Given the description of an element on the screen output the (x, y) to click on. 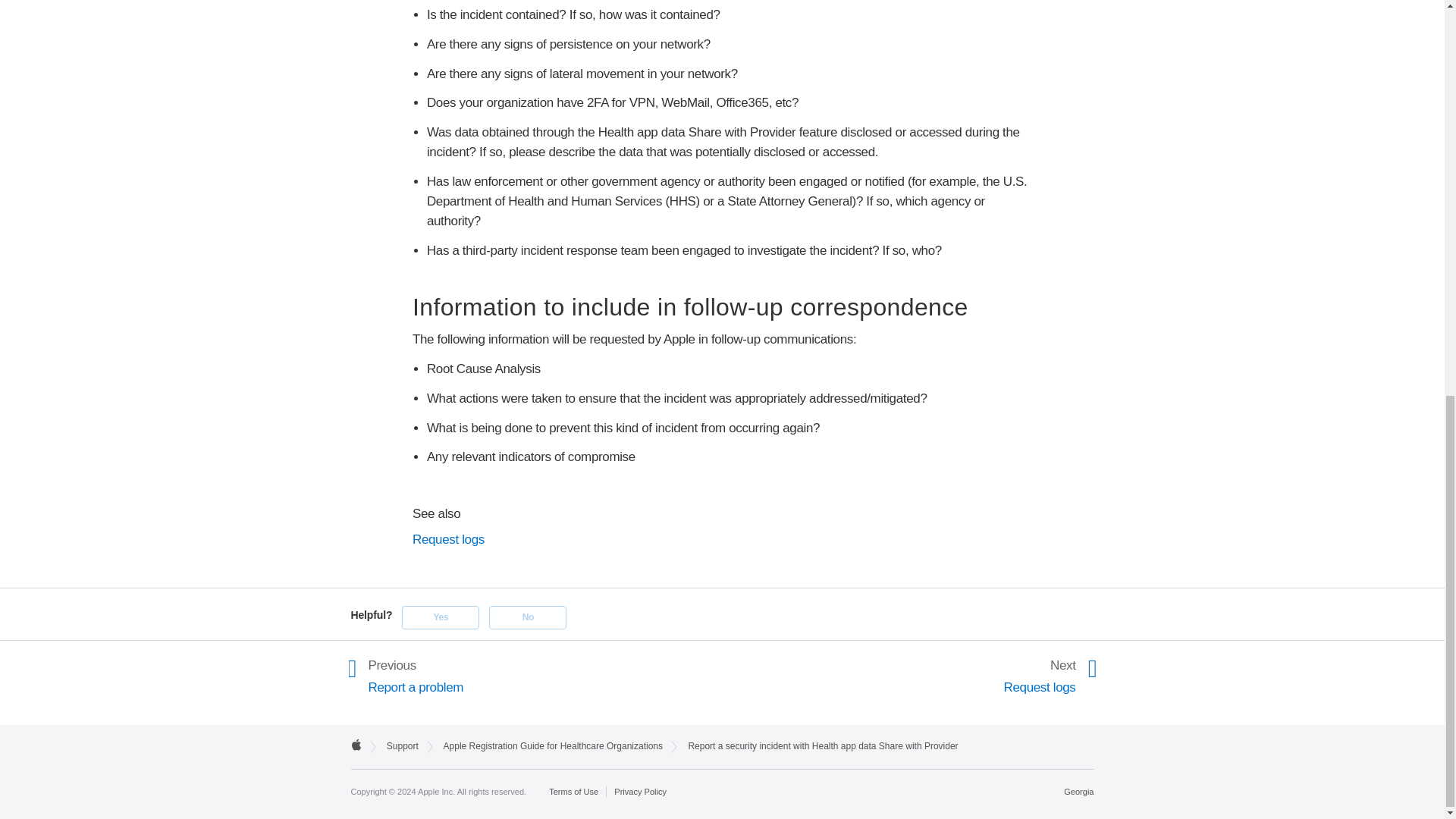
Choose your country or region (1078, 791)
Solved my problem (440, 617)
Not helpful (527, 617)
